Given the description of an element on the screen output the (x, y) to click on. 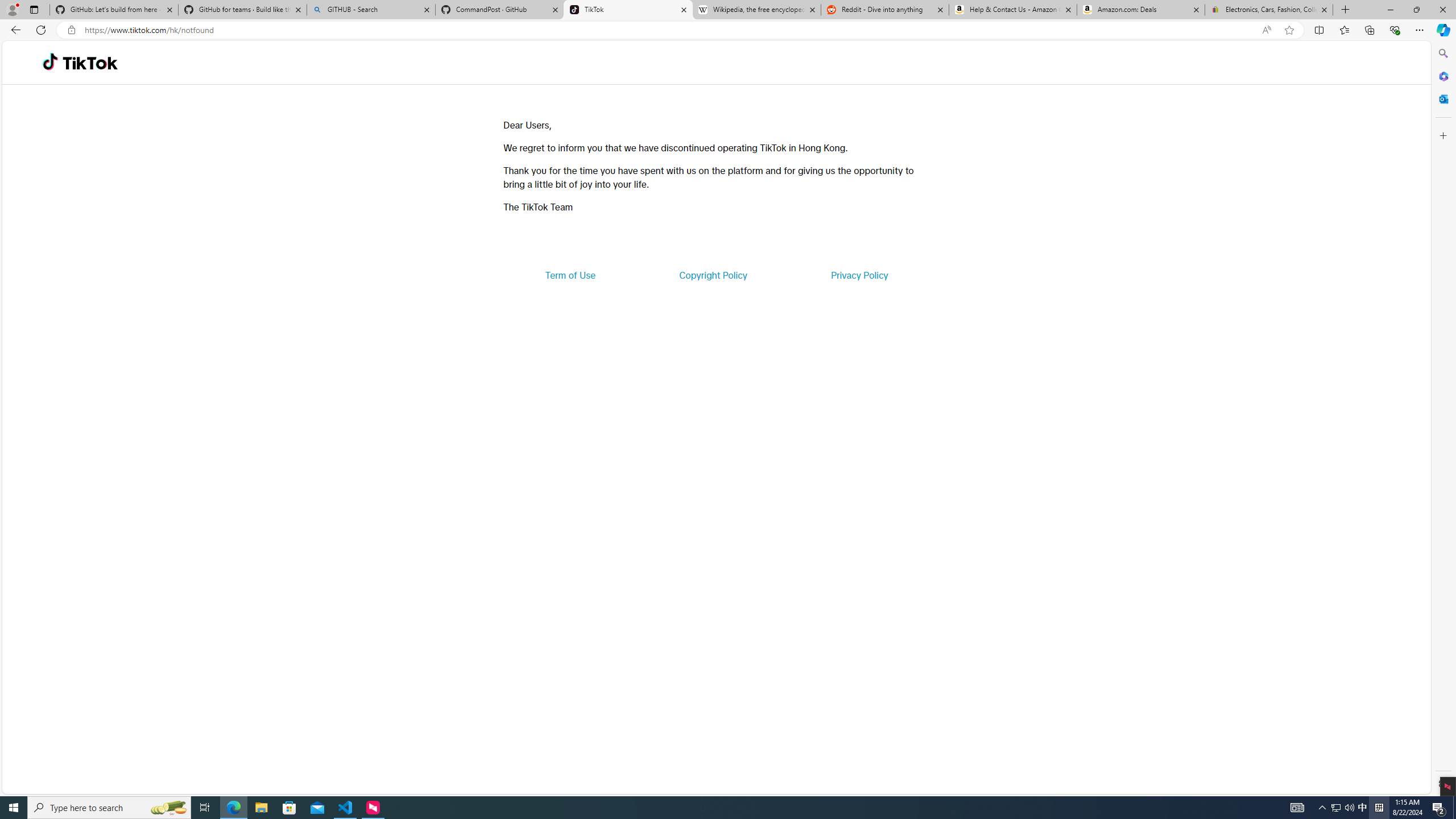
Help & Contact Us - Amazon Customer Service (1012, 9)
Electronics, Cars, Fashion, Collectibles & More | eBay (1268, 9)
Privacy Policy (858, 274)
Reddit - Dive into anything (884, 9)
Wikipedia, the free encyclopedia (756, 9)
